Given the description of an element on the screen output the (x, y) to click on. 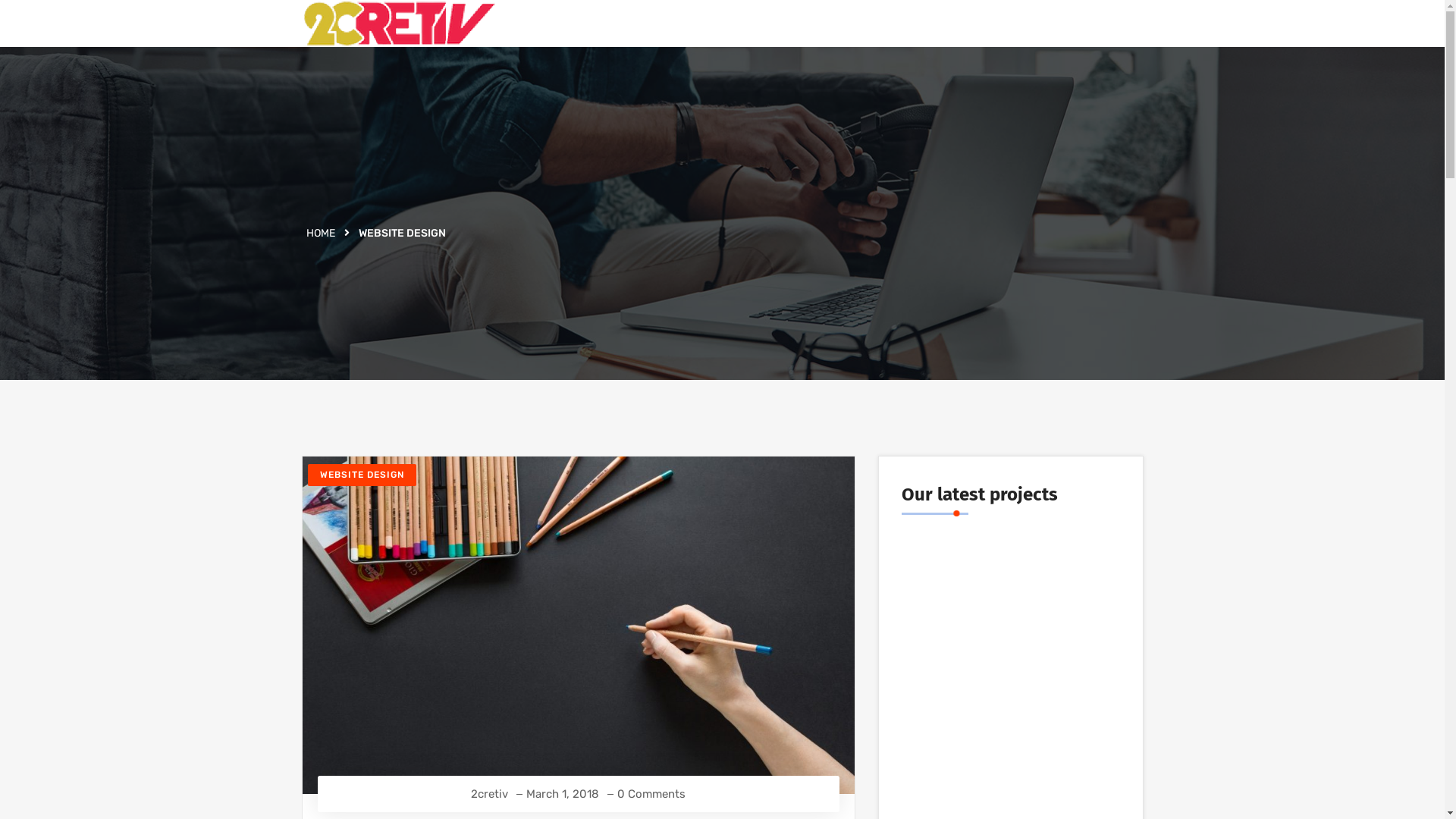
2Cretiv Element type: hover (398, 23)
WEBSITE DESIGN Element type: text (361, 475)
0 Comments Element type: text (651, 794)
SMC Element type: hover (1009, 590)
2cretiv Element type: text (489, 794)
Electric company Element type: hover (1009, 732)
HOME Element type: text (320, 232)
